Given the description of an element on the screen output the (x, y) to click on. 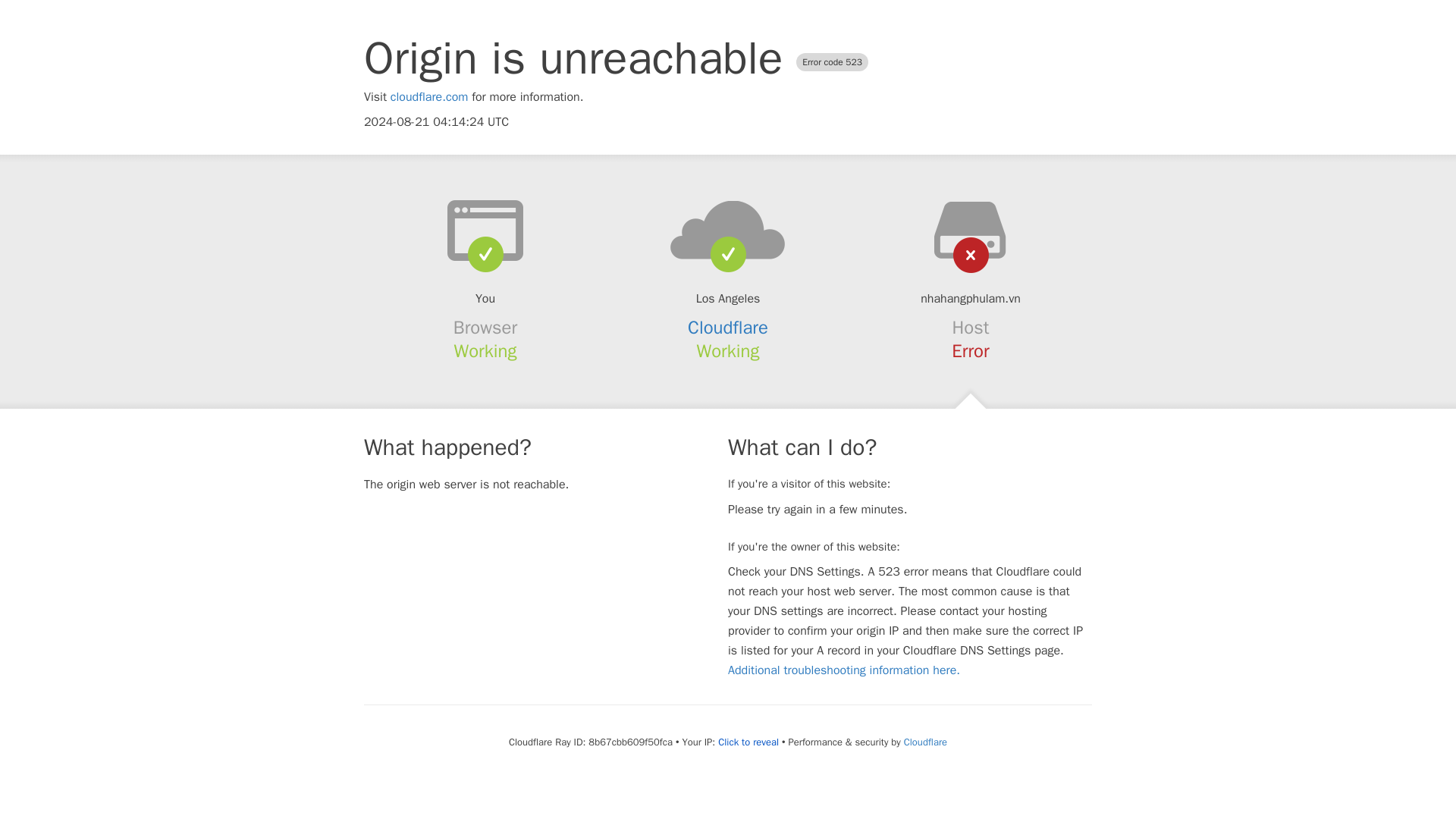
Cloudflare (727, 327)
Cloudflare (925, 741)
cloudflare.com (429, 96)
Click to reveal (747, 742)
Additional troubleshooting information here. (843, 670)
